Given the description of an element on the screen output the (x, y) to click on. 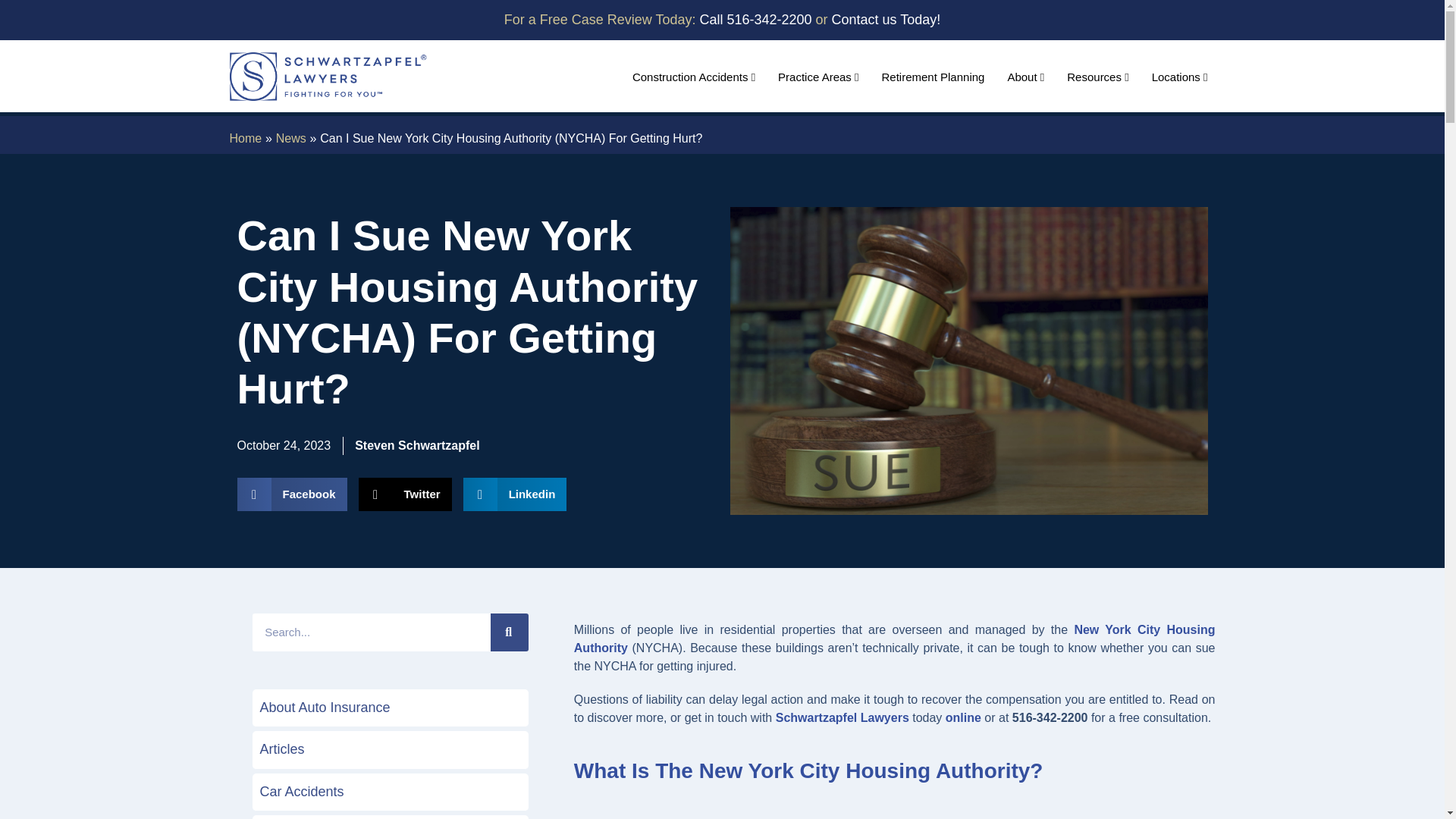
Retirement Planning (932, 72)
About (1024, 72)
Resources (1097, 72)
Practice Areas (818, 72)
Locations (1179, 72)
516-342-2200 (768, 19)
Contact us Today! (885, 19)
Construction Accidents (693, 72)
